Given the description of an element on the screen output the (x, y) to click on. 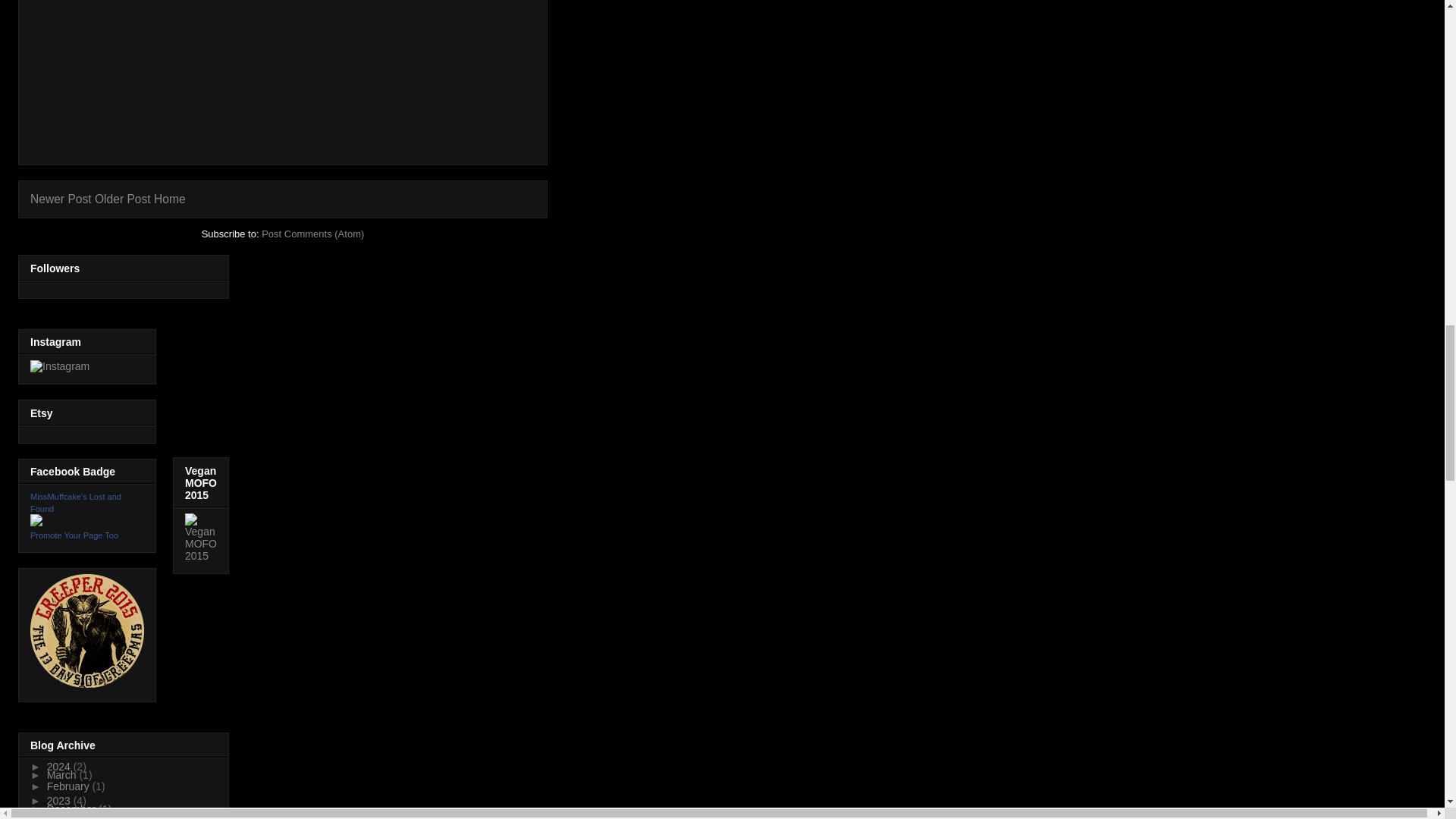
MissMuffcake's Lost and Found (36, 522)
Home (170, 198)
Make your own badge! (73, 534)
Newer Post (60, 198)
MissMuffcake's Lost and Found (75, 502)
Older Post (122, 198)
Promote Your Page Too (73, 534)
February (69, 786)
MissMuffcake's Lost and Found (75, 502)
Newer Post (60, 198)
March (63, 775)
2024 (60, 766)
I'm a CREEP for The 13 Days of CREEPMAS (87, 630)
Older Post (122, 198)
